Given the description of an element on the screen output the (x, y) to click on. 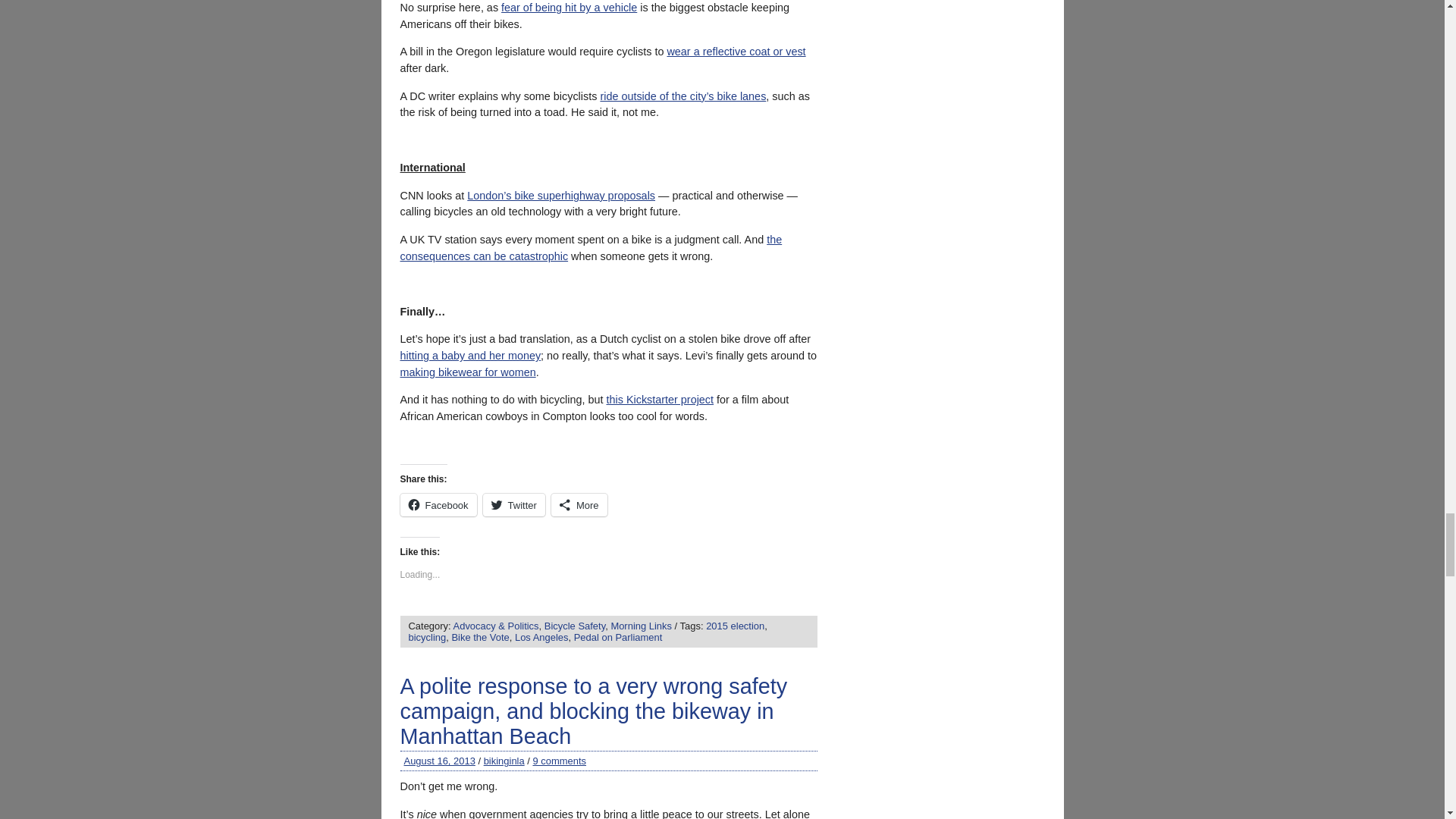
Click to share on Facebook (438, 504)
Click to share on Twitter (513, 504)
Posts by bikinginla (503, 760)
